Given the description of an element on the screen output the (x, y) to click on. 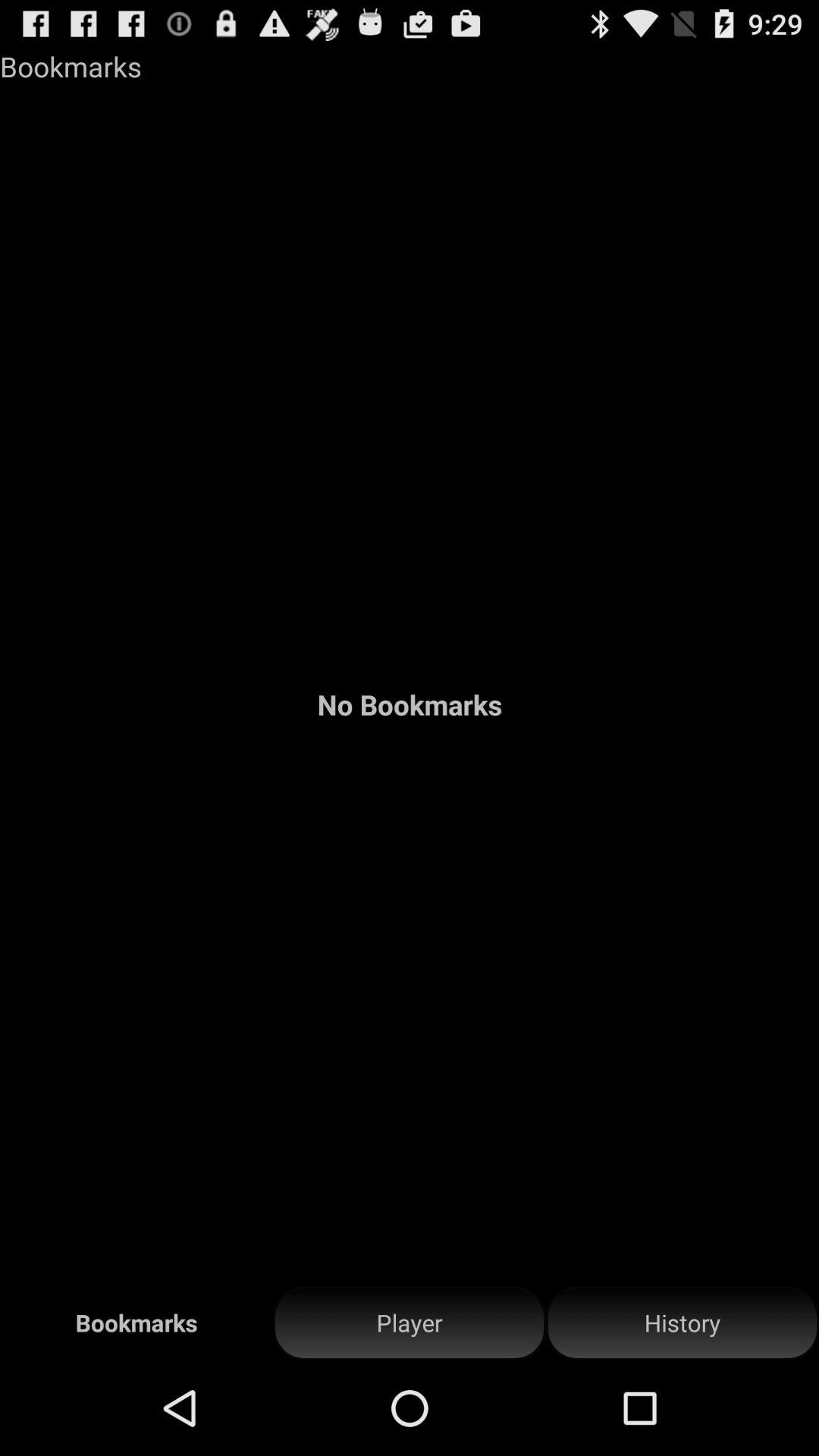
jump to the history item (682, 1323)
